Given the description of an element on the screen output the (x, y) to click on. 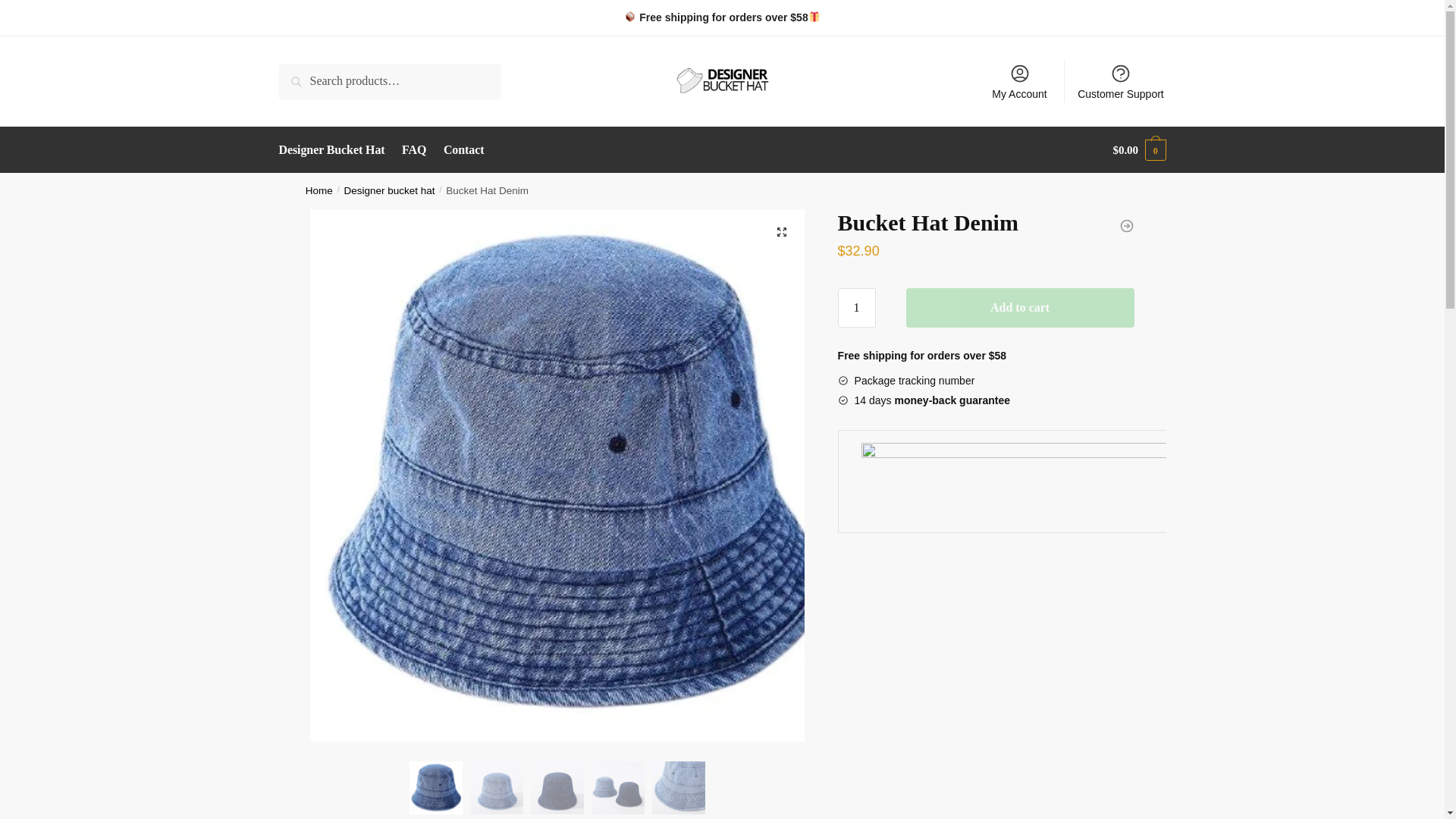
Customer Support (1120, 80)
Designer Bucket Hat (335, 149)
View your shopping cart (1139, 149)
Add to cart (1019, 307)
Designer bucket hat (389, 190)
Search (300, 74)
My Account (1019, 80)
1 (857, 307)
Contact (463, 149)
Home (319, 190)
